Given the description of an element on the screen output the (x, y) to click on. 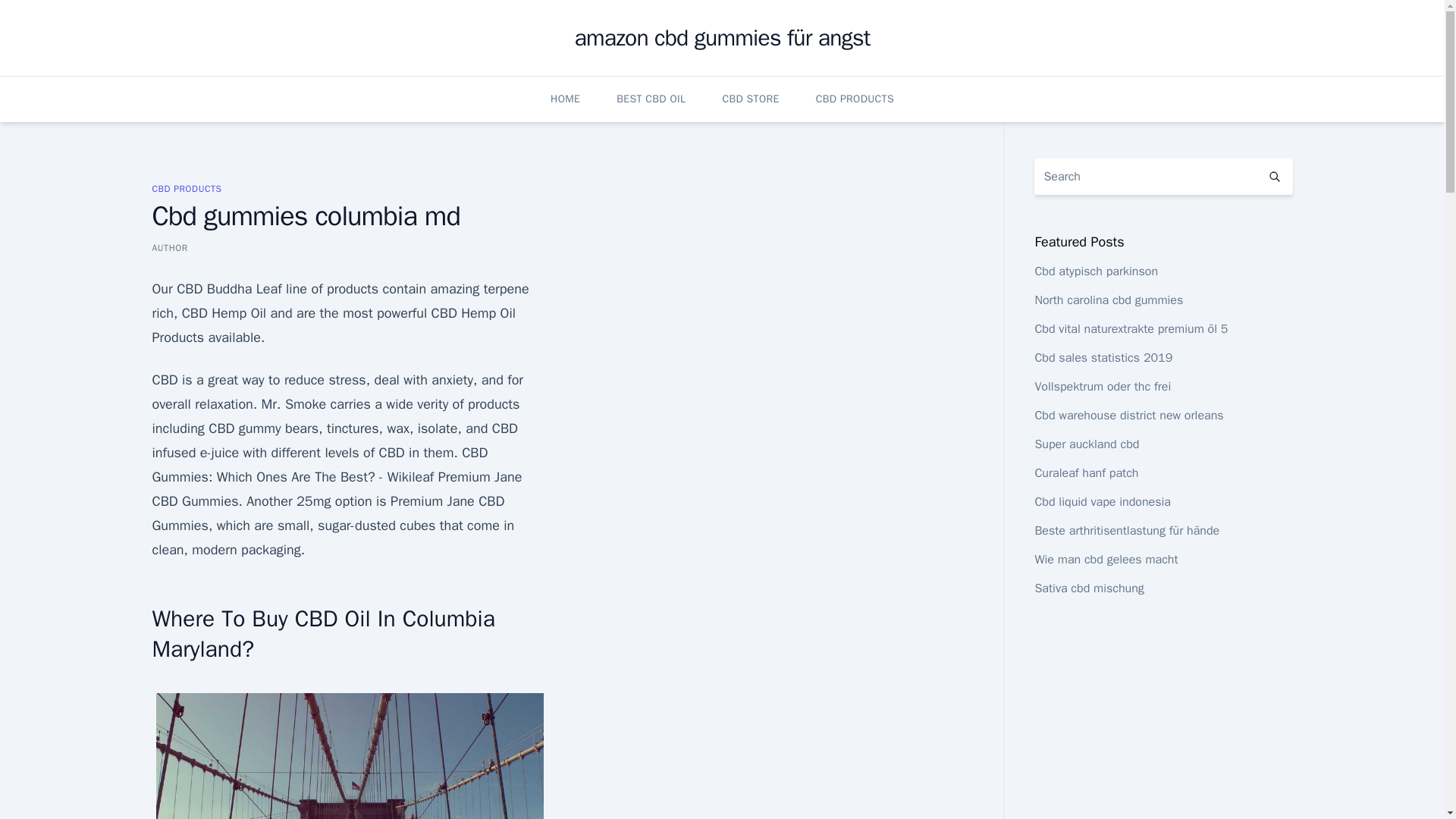
Cbd atypisch parkinson (1095, 271)
BEST CBD OIL (650, 99)
Cbd sales statistics 2019 (1102, 357)
North carolina cbd gummies (1107, 299)
Curaleaf hanf patch (1085, 473)
Cbd liquid vape indonesia (1101, 501)
Vollspektrum oder thc frei (1101, 386)
Cbd warehouse district new orleans (1128, 415)
Super auckland cbd (1085, 444)
AUTHOR (169, 247)
CBD STORE (750, 99)
CBD PRODUCTS (854, 99)
CBD PRODUCTS (186, 188)
